Given the description of an element on the screen output the (x, y) to click on. 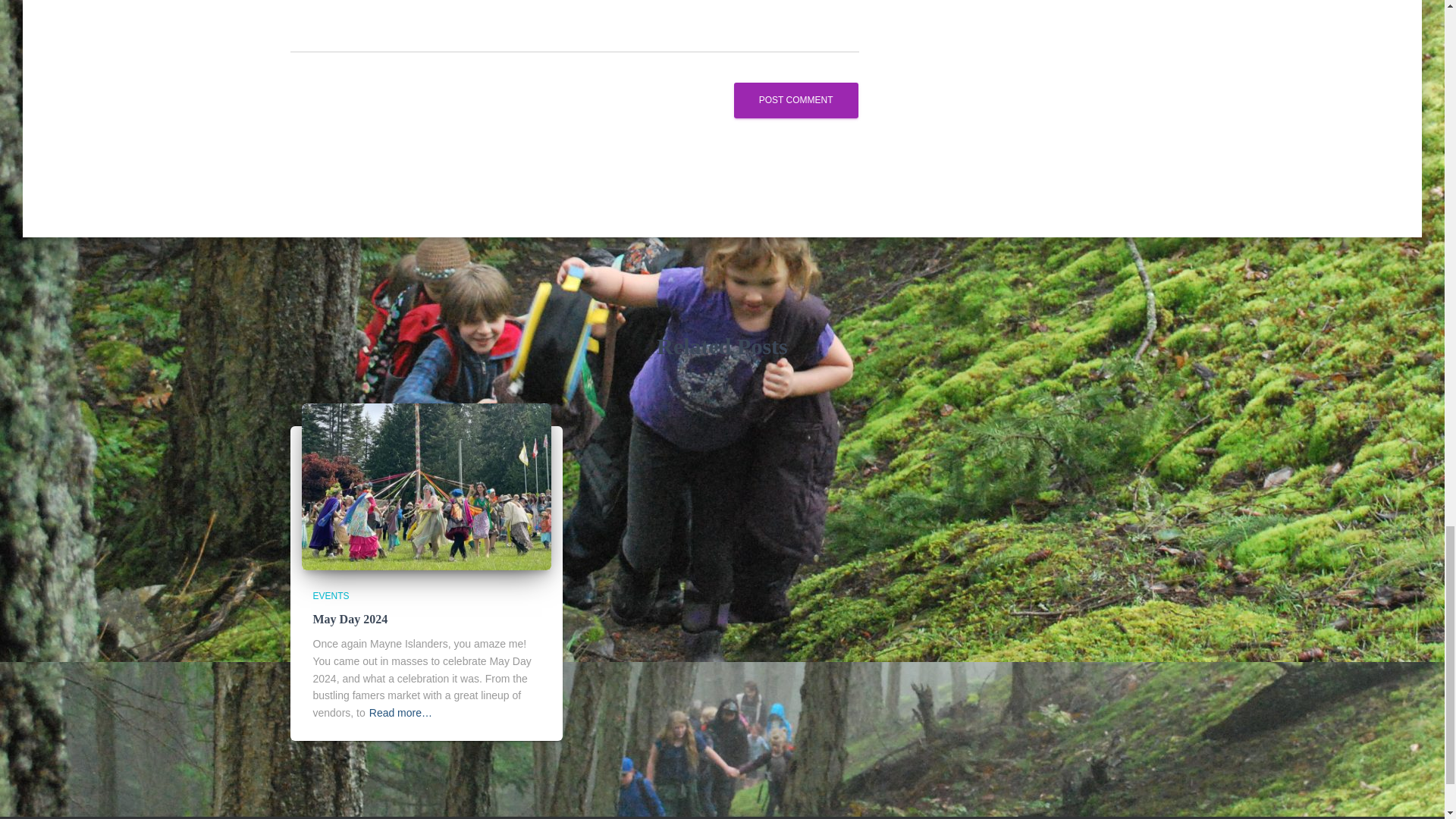
Post Comment (796, 99)
